Given the description of an element on the screen output the (x, y) to click on. 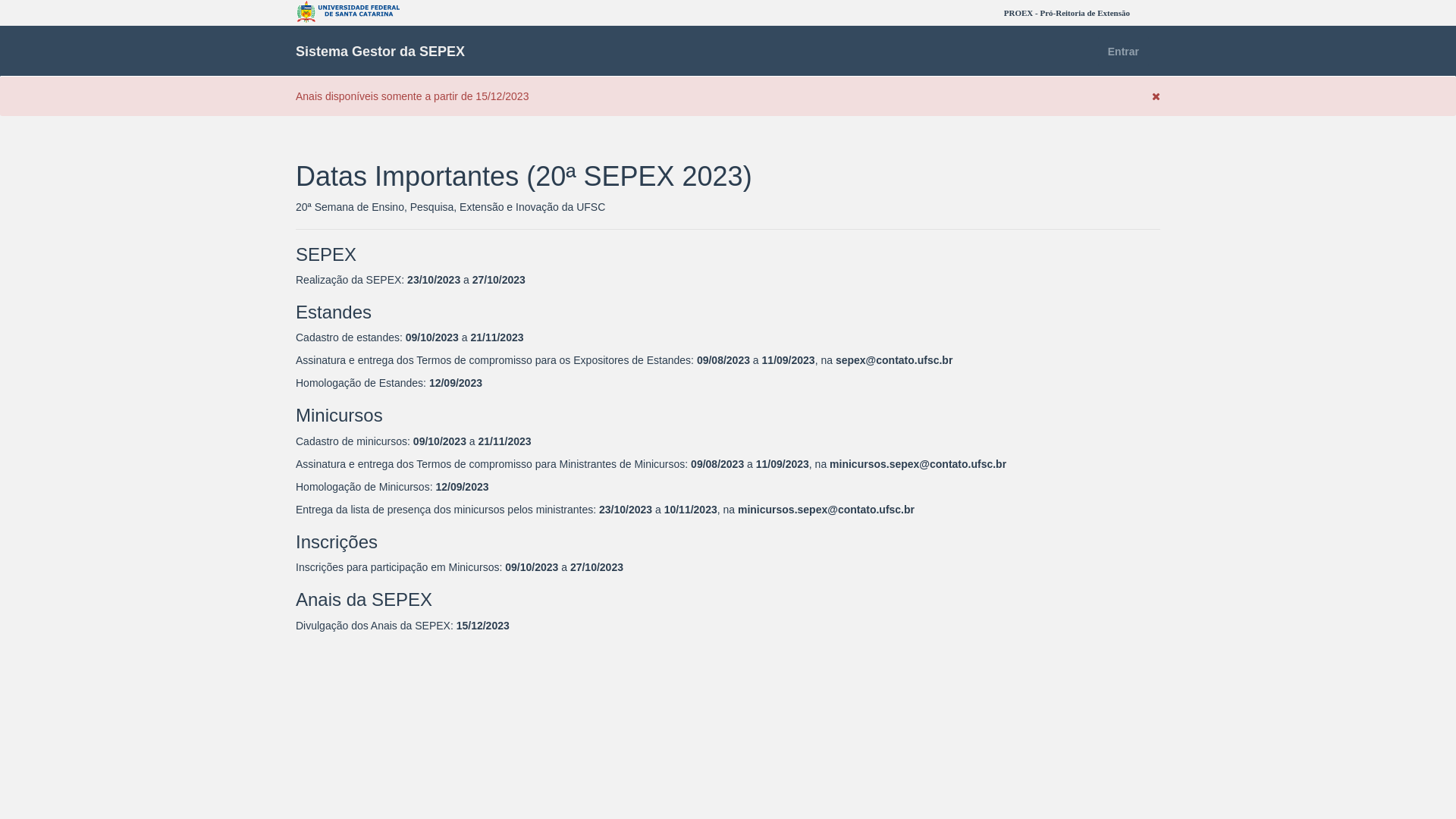
Entrar Element type: text (1123, 51)
Sistema Gestor da SEPEX Element type: text (380, 50)
